Given the description of an element on the screen output the (x, y) to click on. 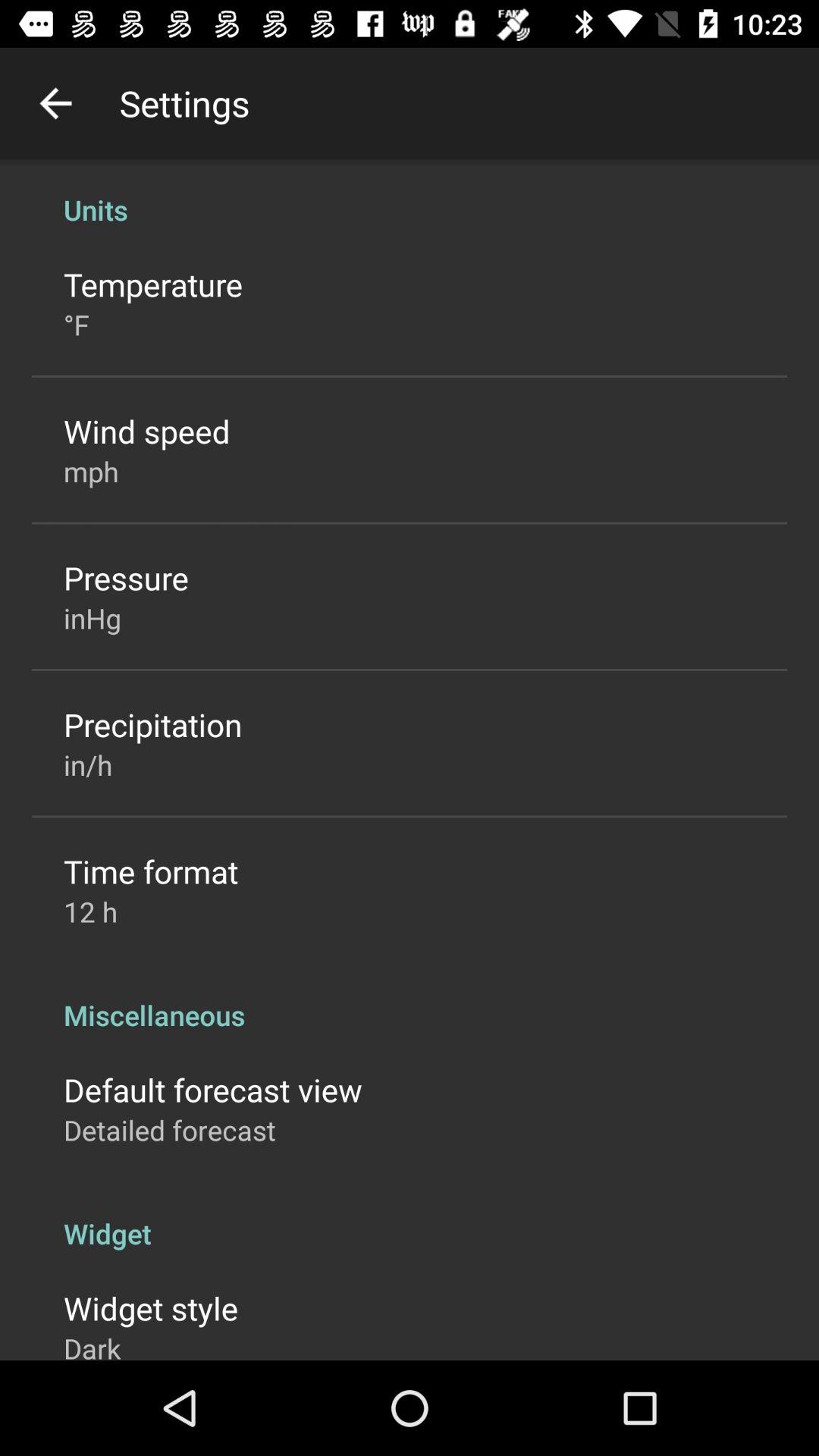
open the icon above the temperature item (409, 193)
